Given the description of an element on the screen output the (x, y) to click on. 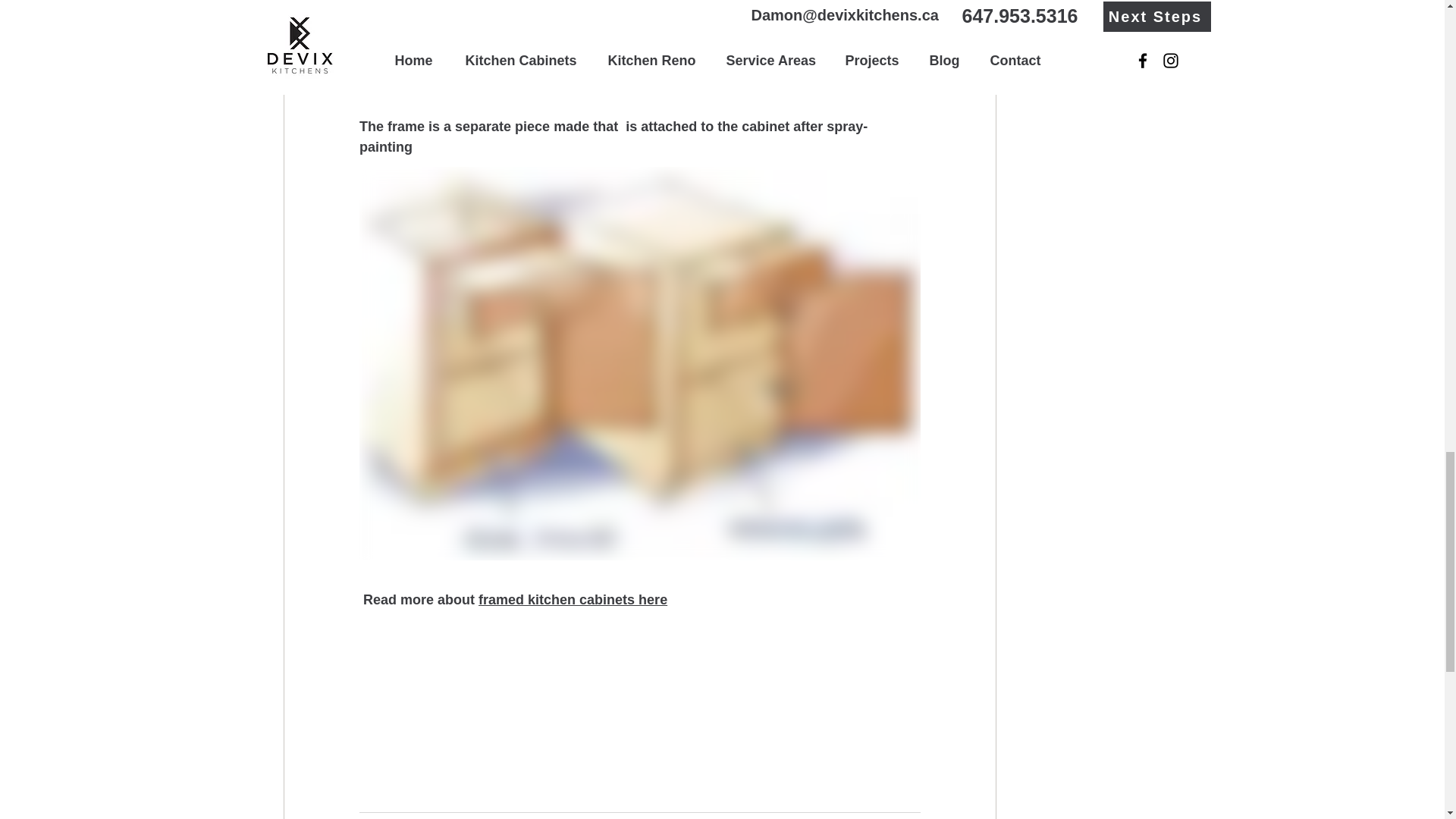
framed kitchen cabinets here (572, 599)
